Given the description of an element on the screen output the (x, y) to click on. 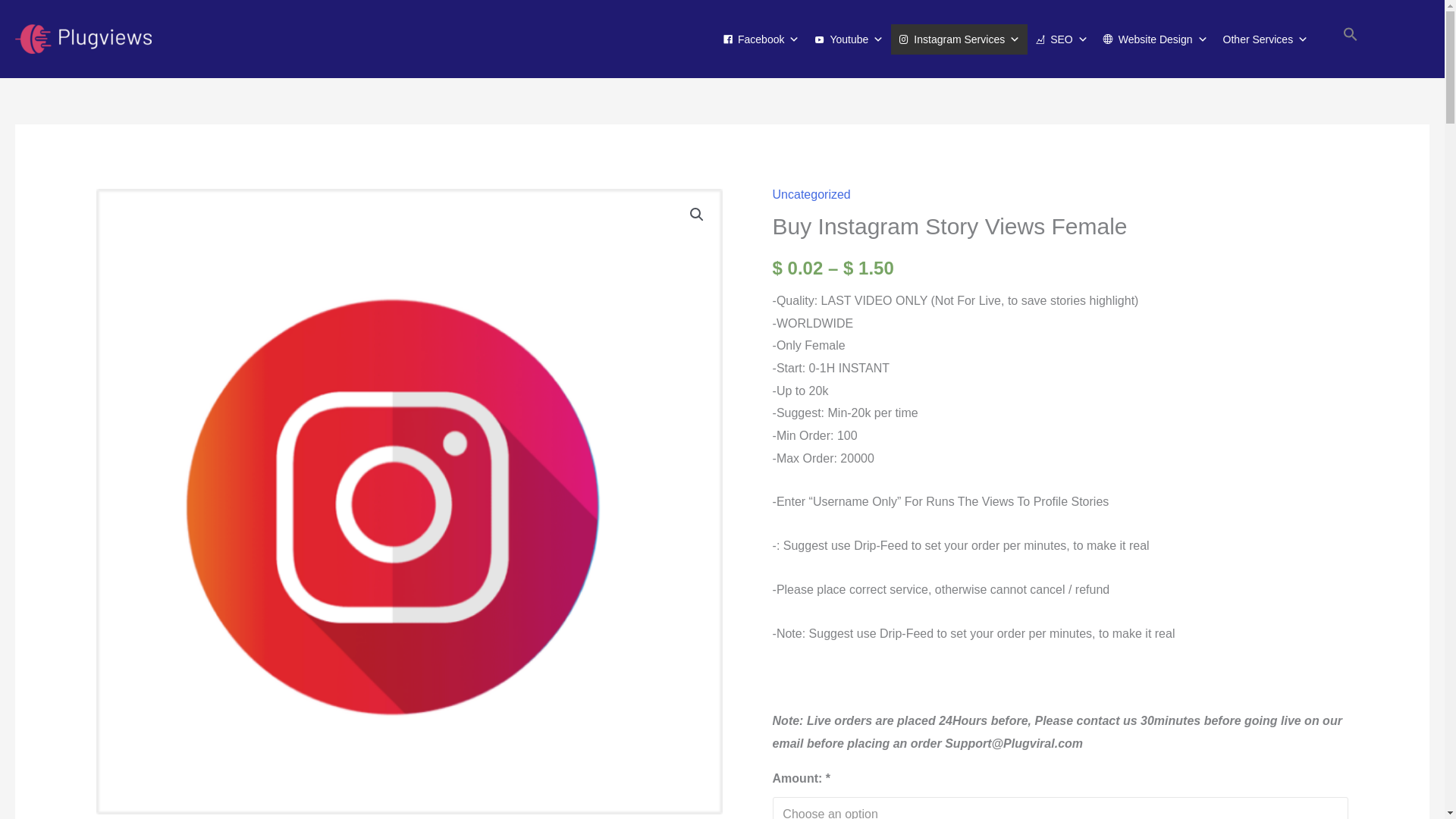
Facebook (760, 39)
